Given the description of an element on the screen output the (x, y) to click on. 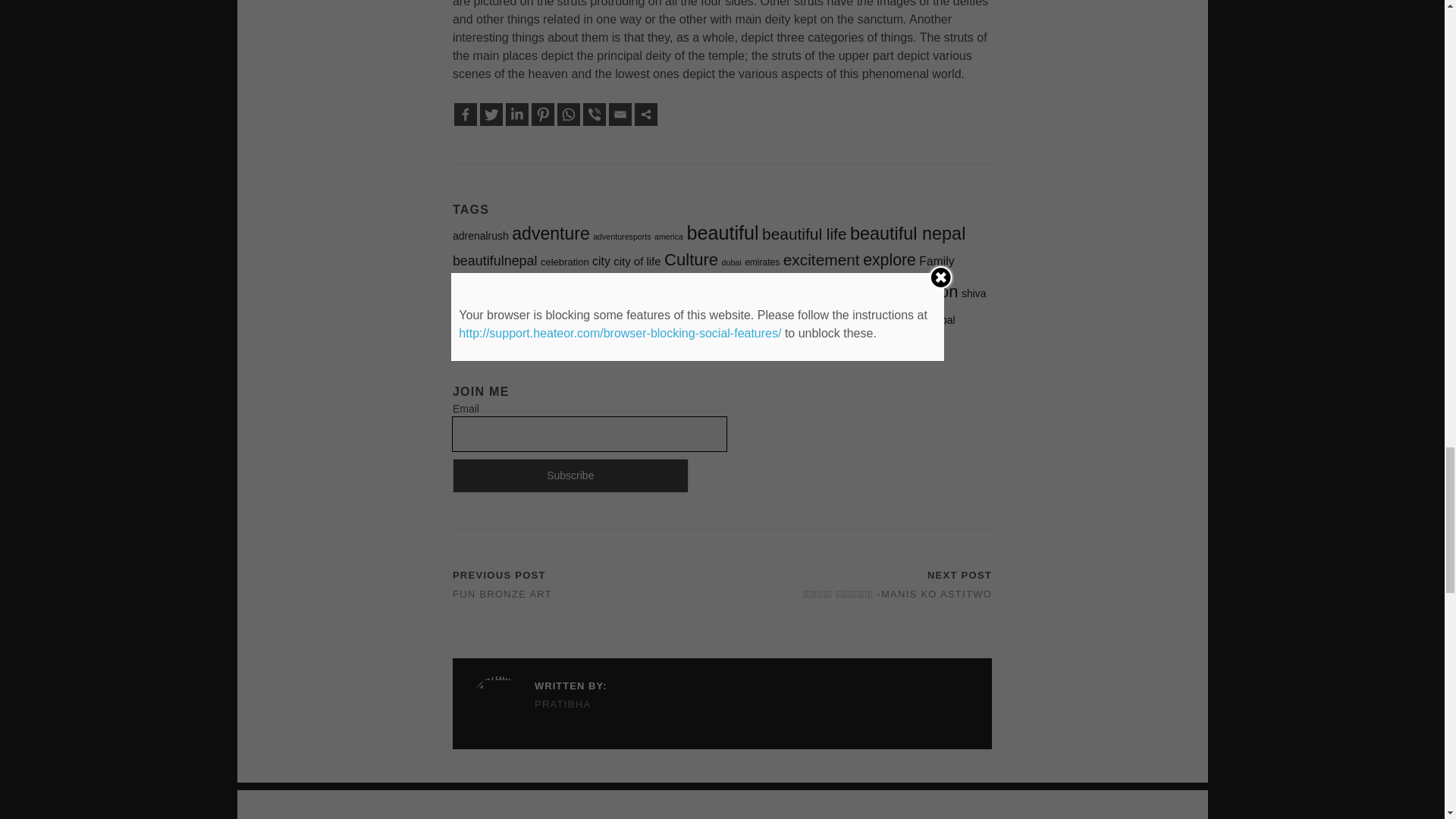
Viber (594, 114)
beautifulnepal (494, 260)
Culture (690, 259)
Whatsapp (568, 114)
city of life (636, 260)
celebration (564, 261)
america (667, 235)
Email (619, 114)
dubai (731, 261)
Facebook (465, 114)
emirates (761, 262)
excitement (821, 259)
beautiful nepal (907, 233)
explore (889, 259)
festival (472, 292)
